Given the description of an element on the screen output the (x, y) to click on. 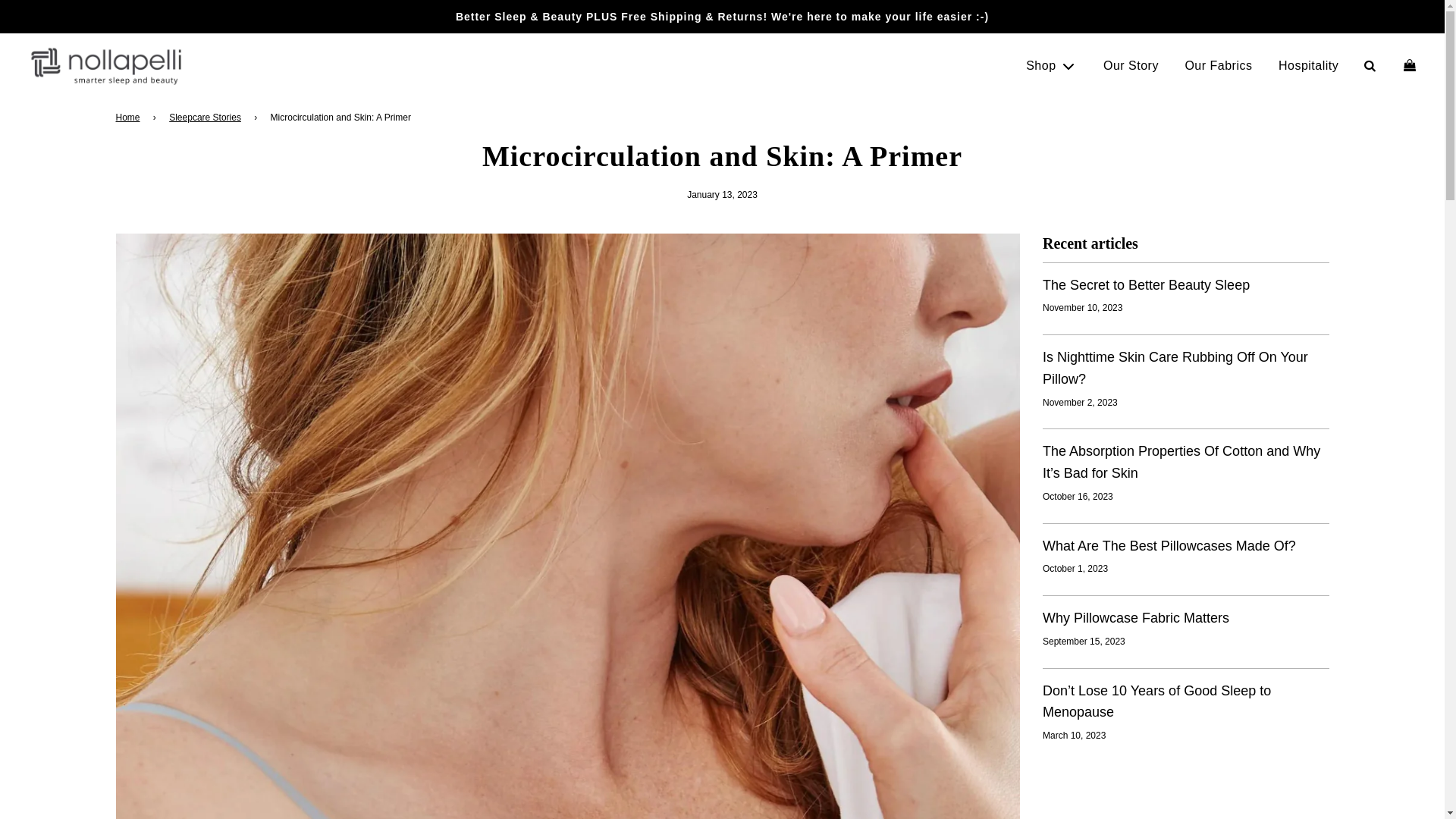
Why Pillowcase Fabric Matters (1135, 617)
Our Story (1131, 65)
Back to the frontpage (129, 117)
What Are The Best Pillowcases Made Of? (1168, 545)
Shop (1050, 65)
Is Nighttime Skin Care Rubbing Off On Your Pillow? (1174, 367)
Our Fabrics (1218, 65)
Hospitality (1307, 65)
The Secret to Better Beauty Sleep (1145, 284)
Sleepcare Stories (207, 117)
